Given the description of an element on the screen output the (x, y) to click on. 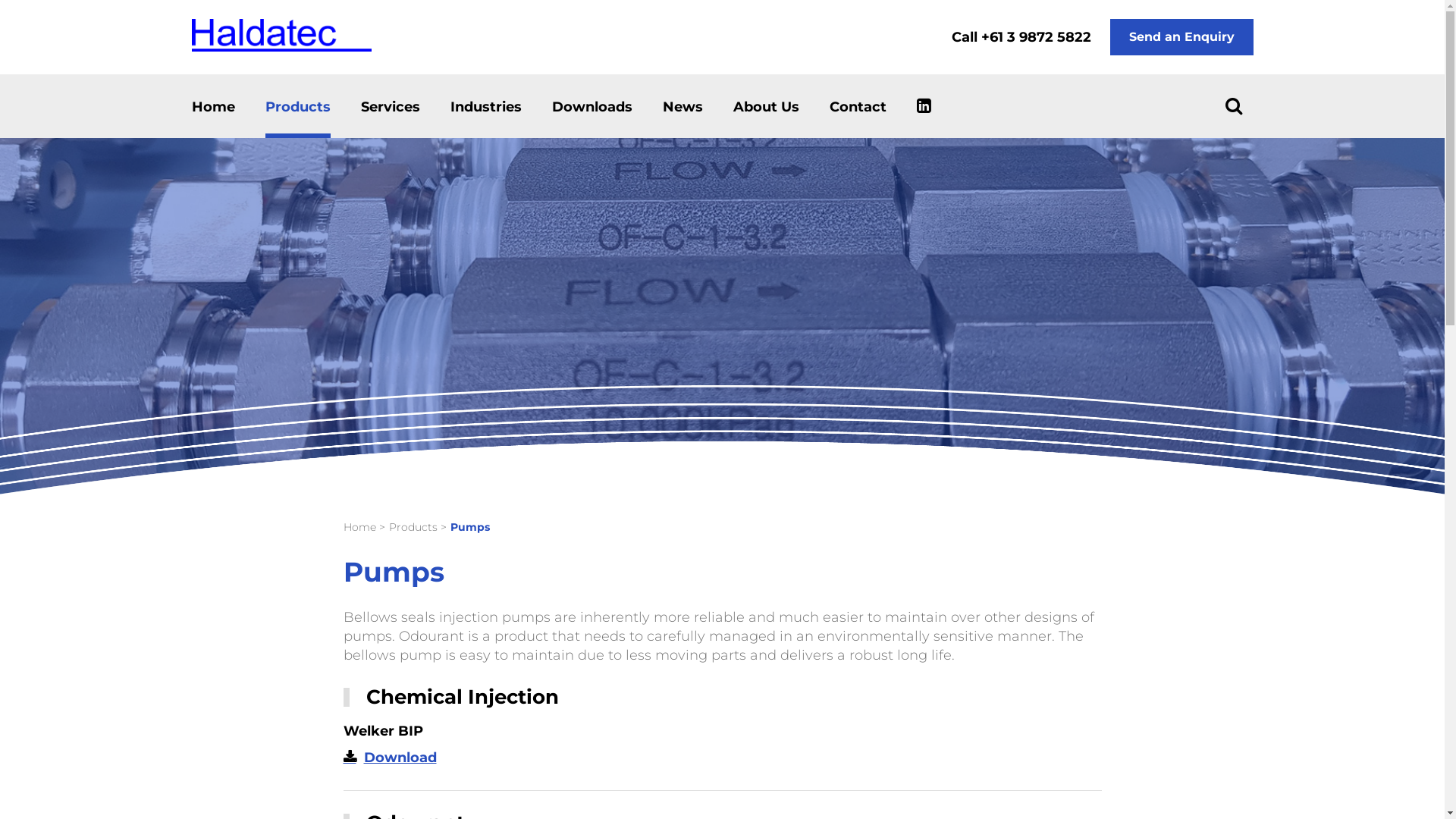
Services Element type: text (390, 106)
Products Element type: text (412, 526)
Call +61 3 9872 5822 Element type: text (1020, 36)
Home Element type: text (212, 106)
SEARCH Element type: text (1232, 105)
News Element type: text (682, 106)
Downloads Element type: text (592, 106)
About Us Element type: text (765, 106)
Download Element type: text (389, 757)
Send an Enquiry Element type: text (1181, 36)
Industries Element type: text (485, 106)
Products Element type: text (297, 106)
LinkedIn Element type: text (923, 102)
Contact Element type: text (857, 106)
Home Element type: text (358, 526)
Chemical Injection Element type: text (461, 696)
